Given the description of an element on the screen output the (x, y) to click on. 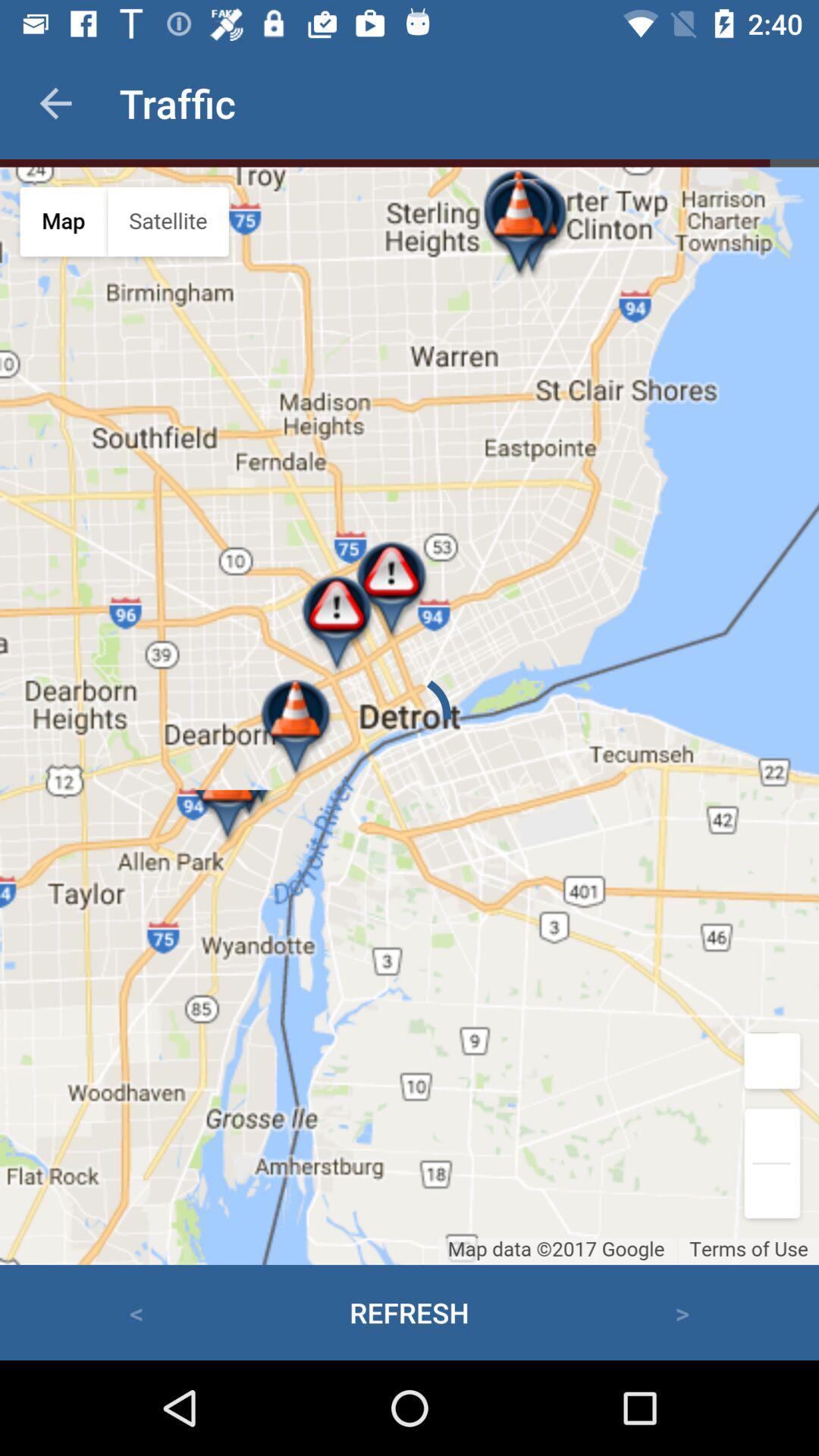
advertisement (409, 715)
